Given the description of an element on the screen output the (x, y) to click on. 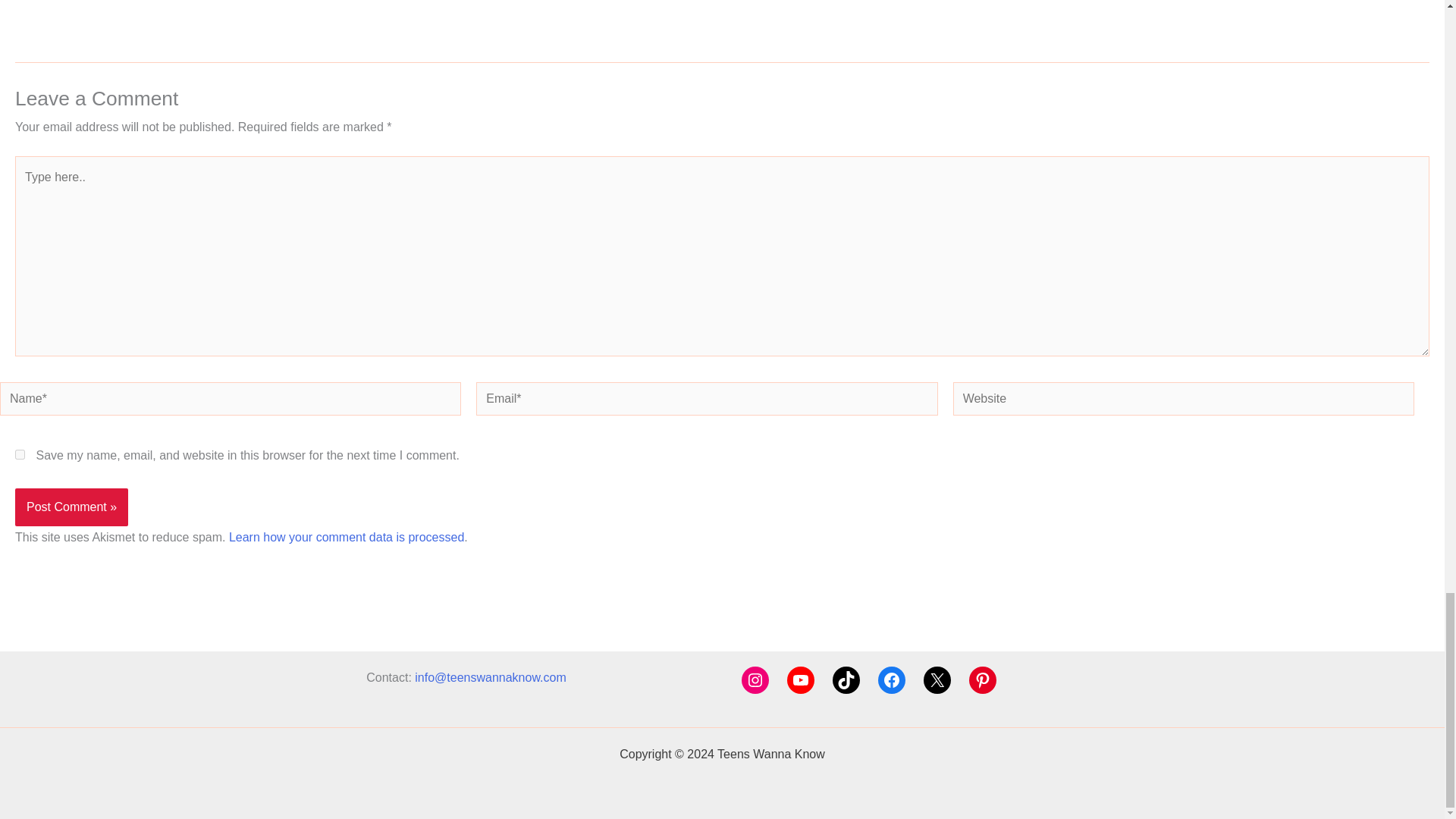
yes (19, 454)
